Given the description of an element on the screen output the (x, y) to click on. 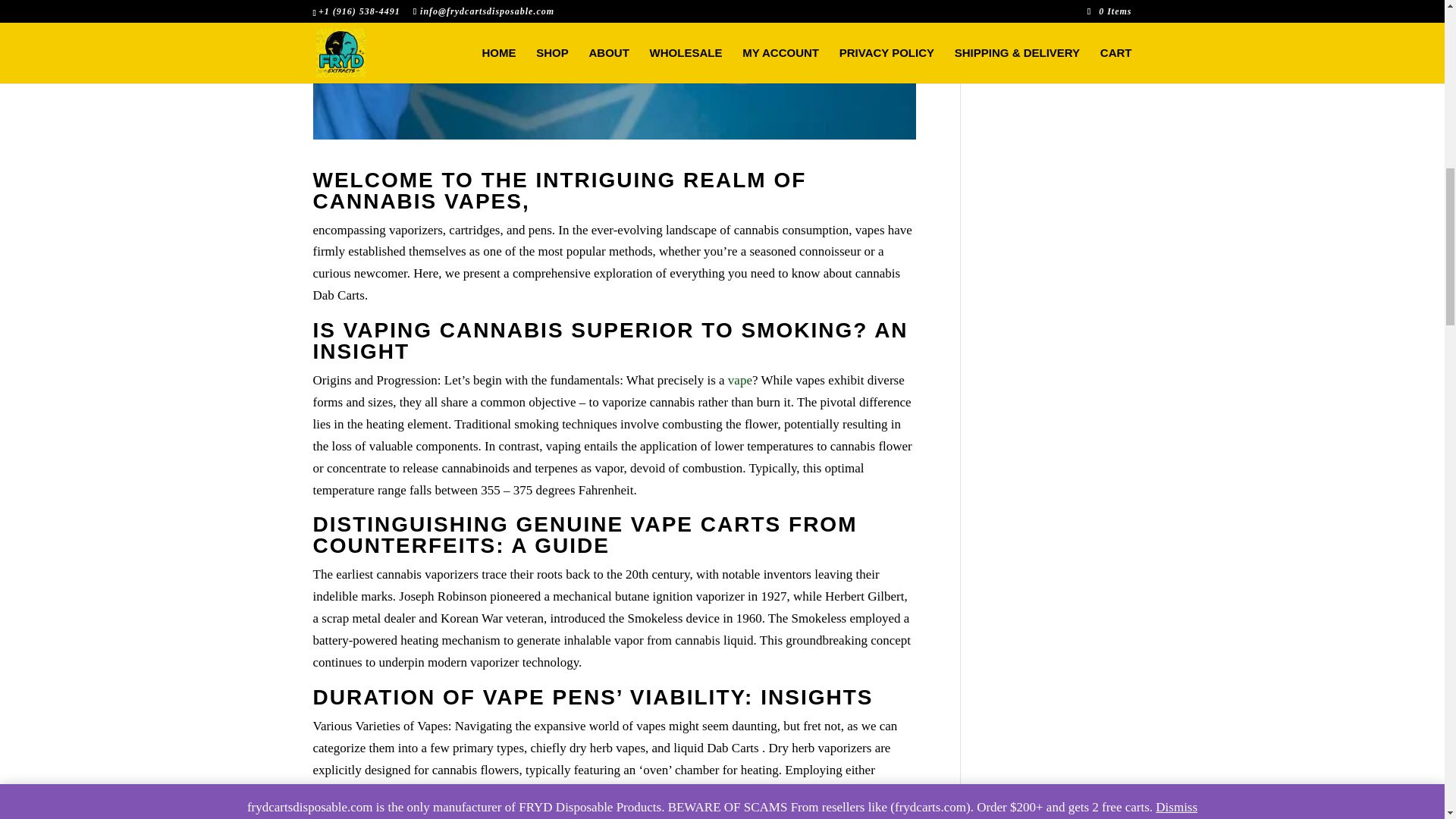
vape (738, 380)
